Given the description of an element on the screen output the (x, y) to click on. 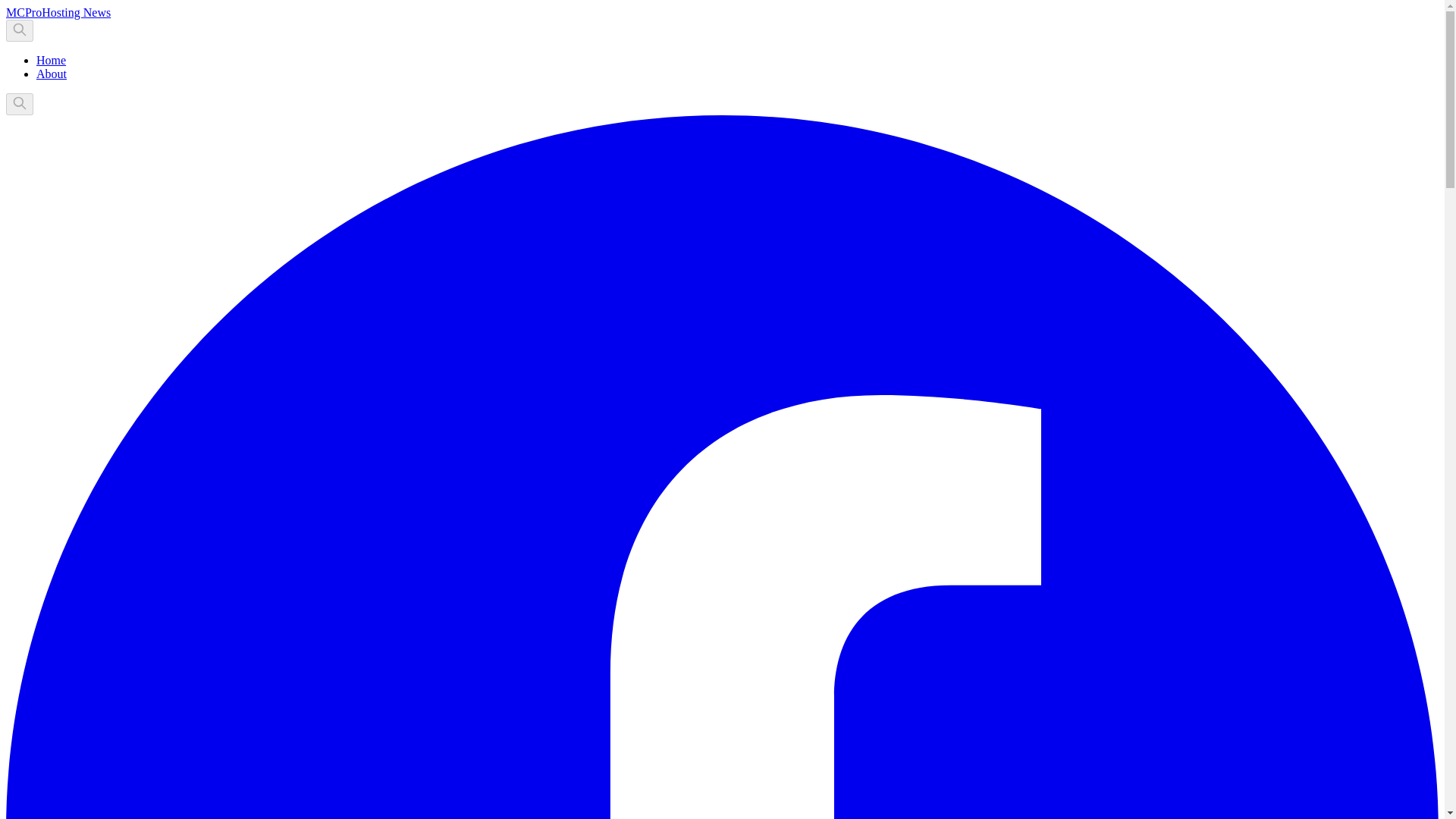
Home (50, 60)
About (51, 73)
MCProHosting News (57, 11)
